Given the description of an element on the screen output the (x, y) to click on. 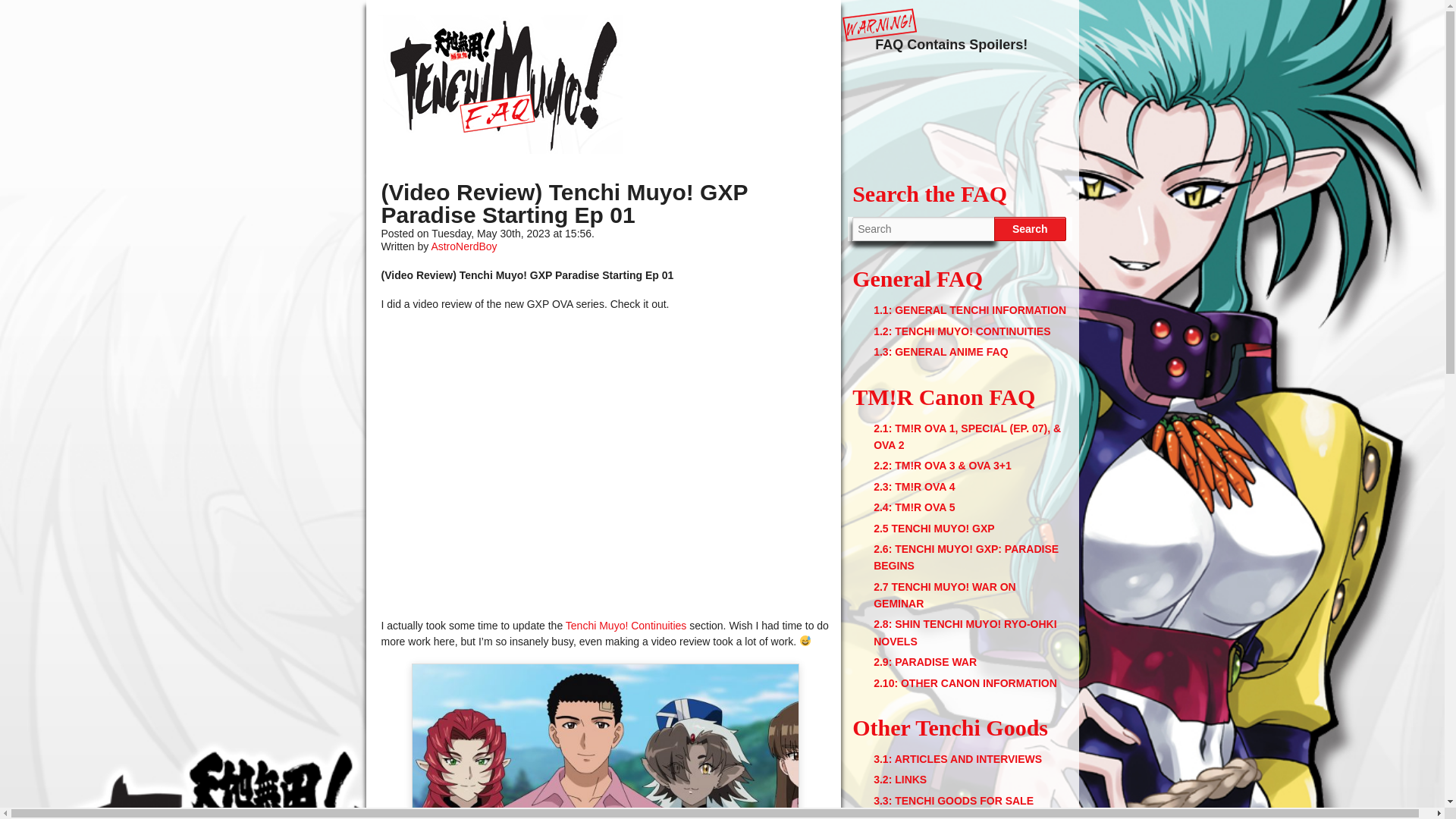
1.1: GENERAL TENCHI INFORMATION (969, 309)
3.1: ARTICLES AND INTERVIEWS (957, 758)
3.3: TENCHI GOODS FOR SALE (953, 800)
2.6: TENCHI MUYO! GXP: PARADISE BEGINS (965, 556)
AstroNerdBoy (463, 246)
2.4: TM!R OVA 5 (914, 507)
2.7 TENCHI MUYO! WAR ON GEMINAR (943, 594)
3.2: LINKS (899, 779)
1.2: TENCHI MUYO! CONTINUITIES (961, 331)
2.9: PARADISE WAR (924, 662)
